Given the description of an element on the screen output the (x, y) to click on. 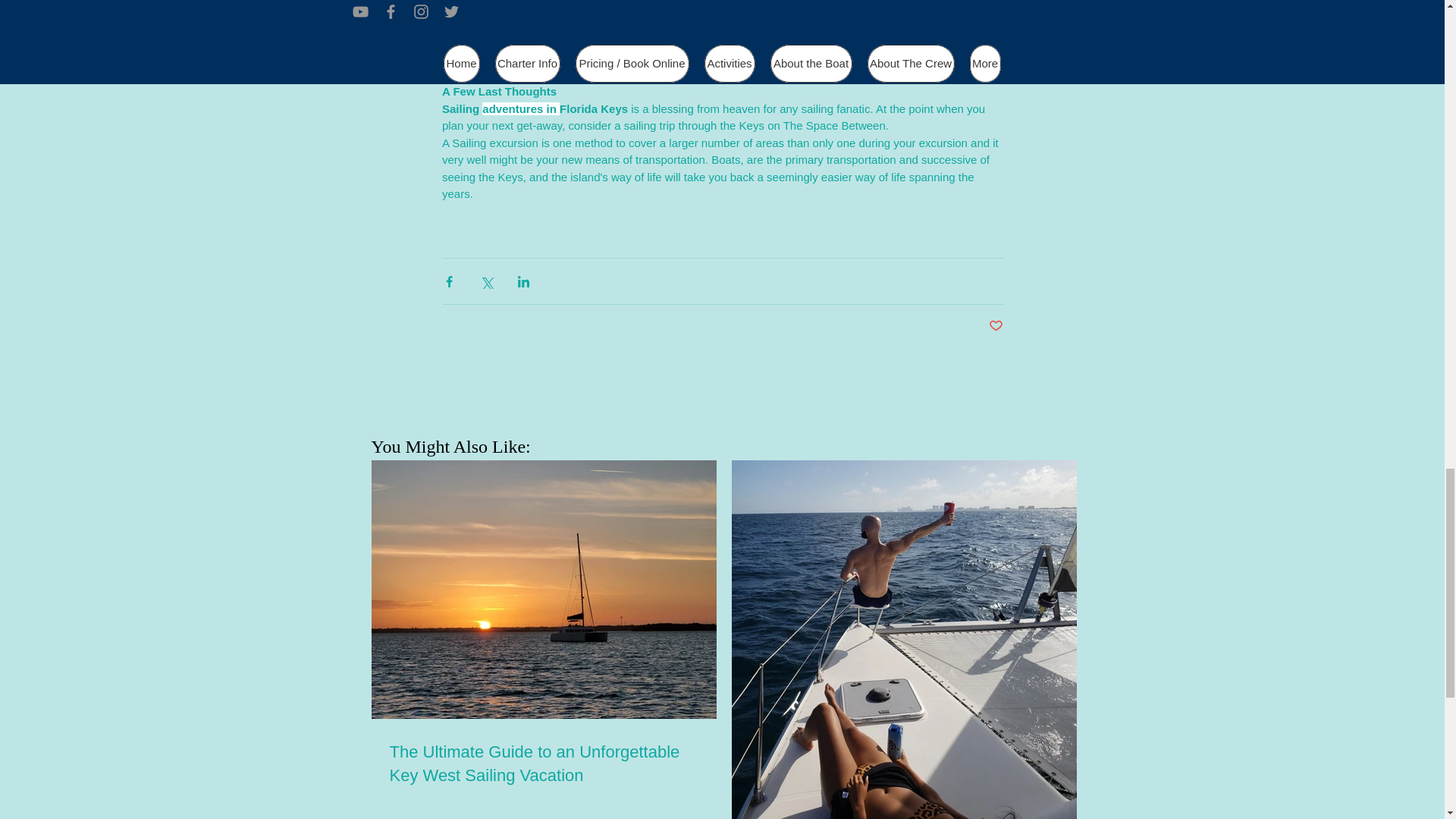
Post not marked as liked (995, 326)
